Given the description of an element on the screen output the (x, y) to click on. 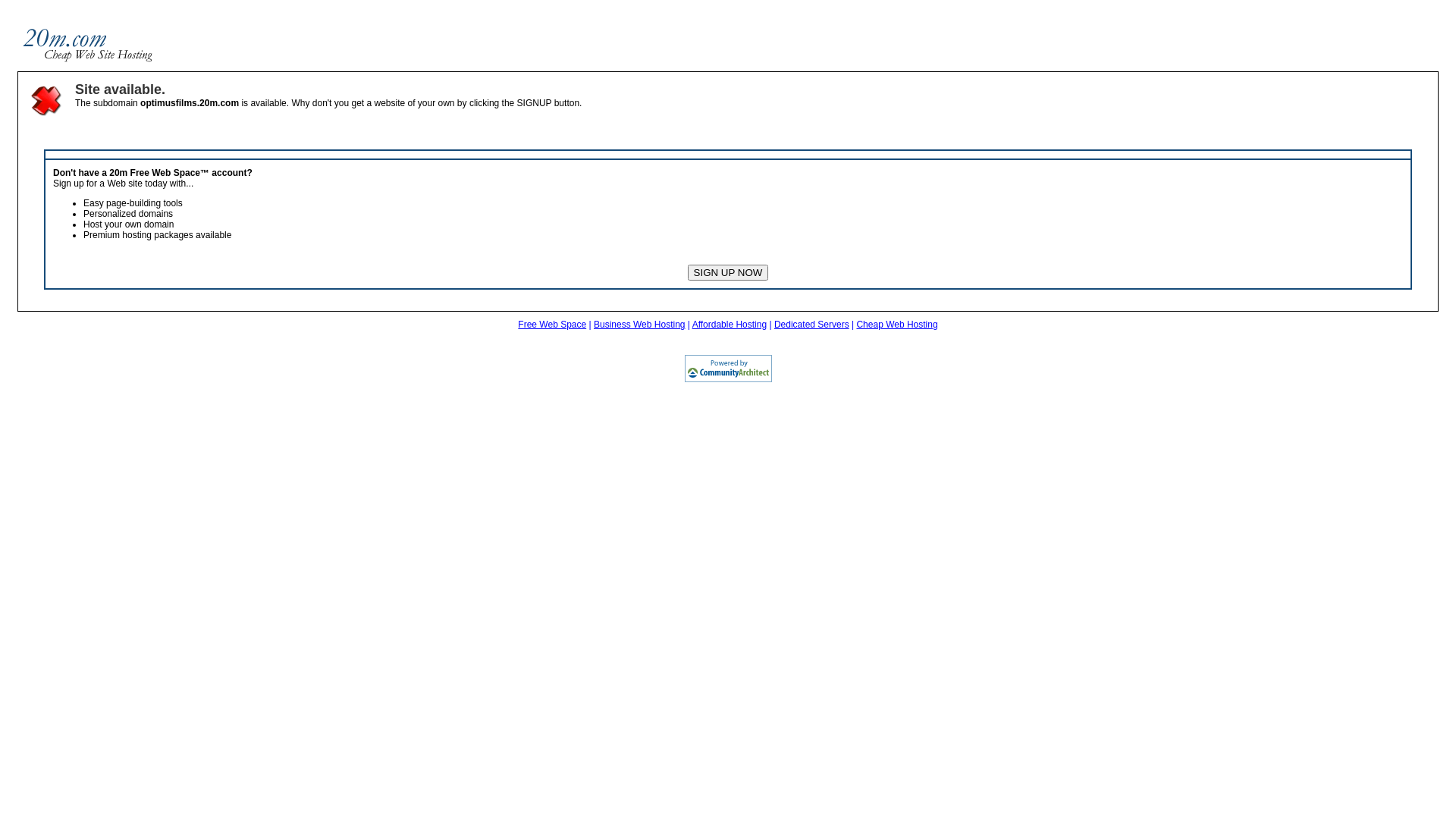
Cheap Web Hosting Element type: text (896, 324)
SIGN UP NOW Element type: text (727, 272)
Free Web Space Element type: text (551, 324)
Affordable Hosting Element type: text (729, 324)
Business Web Hosting Element type: text (639, 324)
Dedicated Servers Element type: text (811, 324)
